Given the description of an element on the screen output the (x, y) to click on. 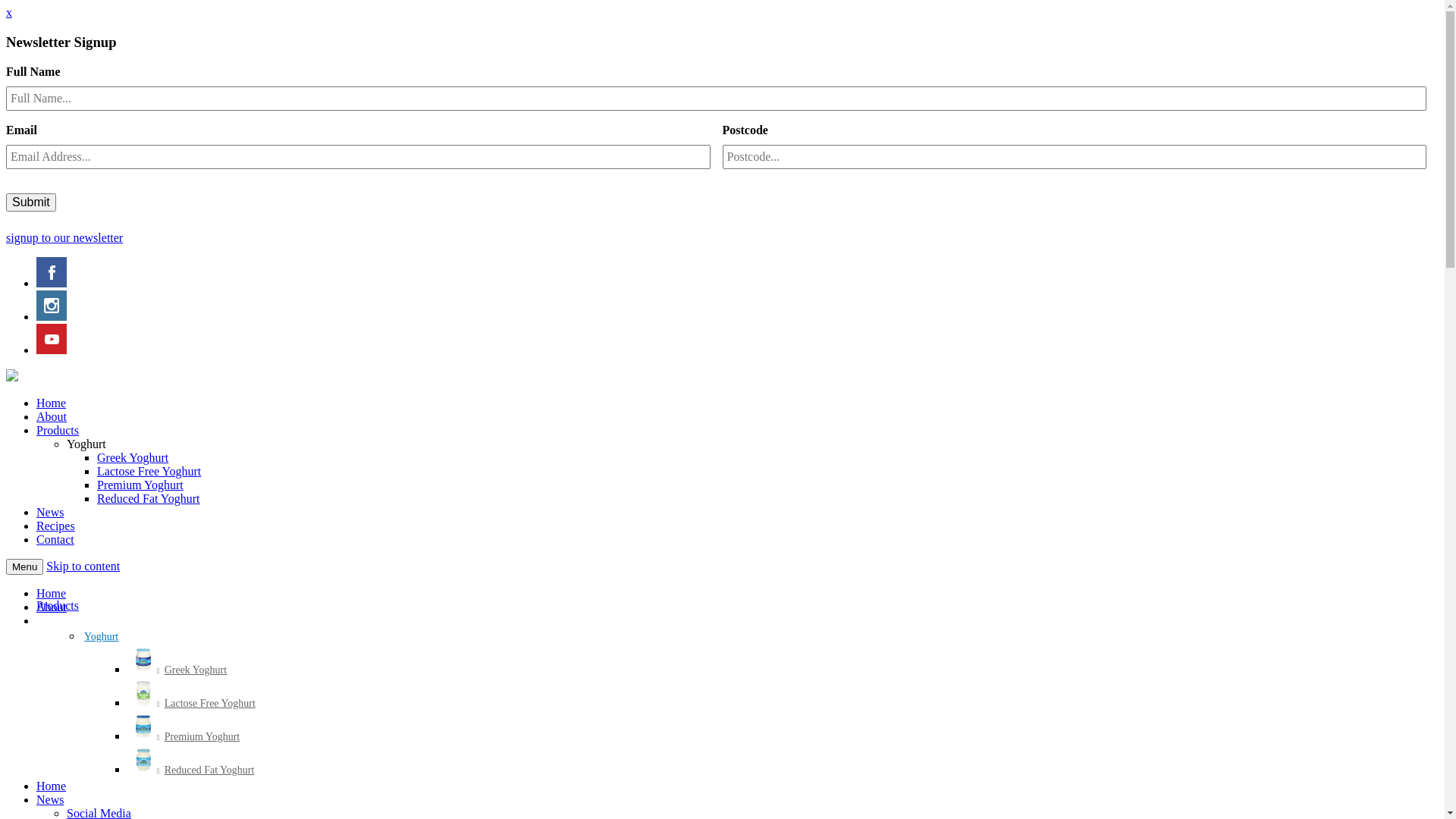
Contact Element type: text (55, 539)
About Element type: text (51, 416)
Premium Yoghurt Element type: text (184, 737)
Yoghurt Element type: text (86, 443)
Skip to content Element type: text (82, 565)
Products Element type: text (57, 429)
Submit Element type: text (31, 202)
Home Element type: text (50, 402)
Premium Yoghurt Element type: text (140, 484)
x Element type: text (9, 12)
About Element type: text (51, 606)
Lactose Free Yoghurt Element type: text (192, 704)
Reduced Fat Yoghurt Element type: text (148, 498)
Home Element type: text (50, 592)
Lactose Free Yoghurt Element type: text (148, 470)
Yoghurt Element type: text (100, 637)
Reduced Fat Yoghurt Element type: text (191, 770)
Menu Element type: text (24, 566)
Greek Yoghurt Element type: text (178, 670)
Greek Yoghurt Element type: text (132, 457)
News Element type: text (49, 511)
Products Element type: text (57, 605)
signup to our newsletter Element type: text (64, 237)
Home Element type: text (50, 785)
News Element type: text (49, 799)
Recipes Element type: text (55, 525)
